Given the description of an element on the screen output the (x, y) to click on. 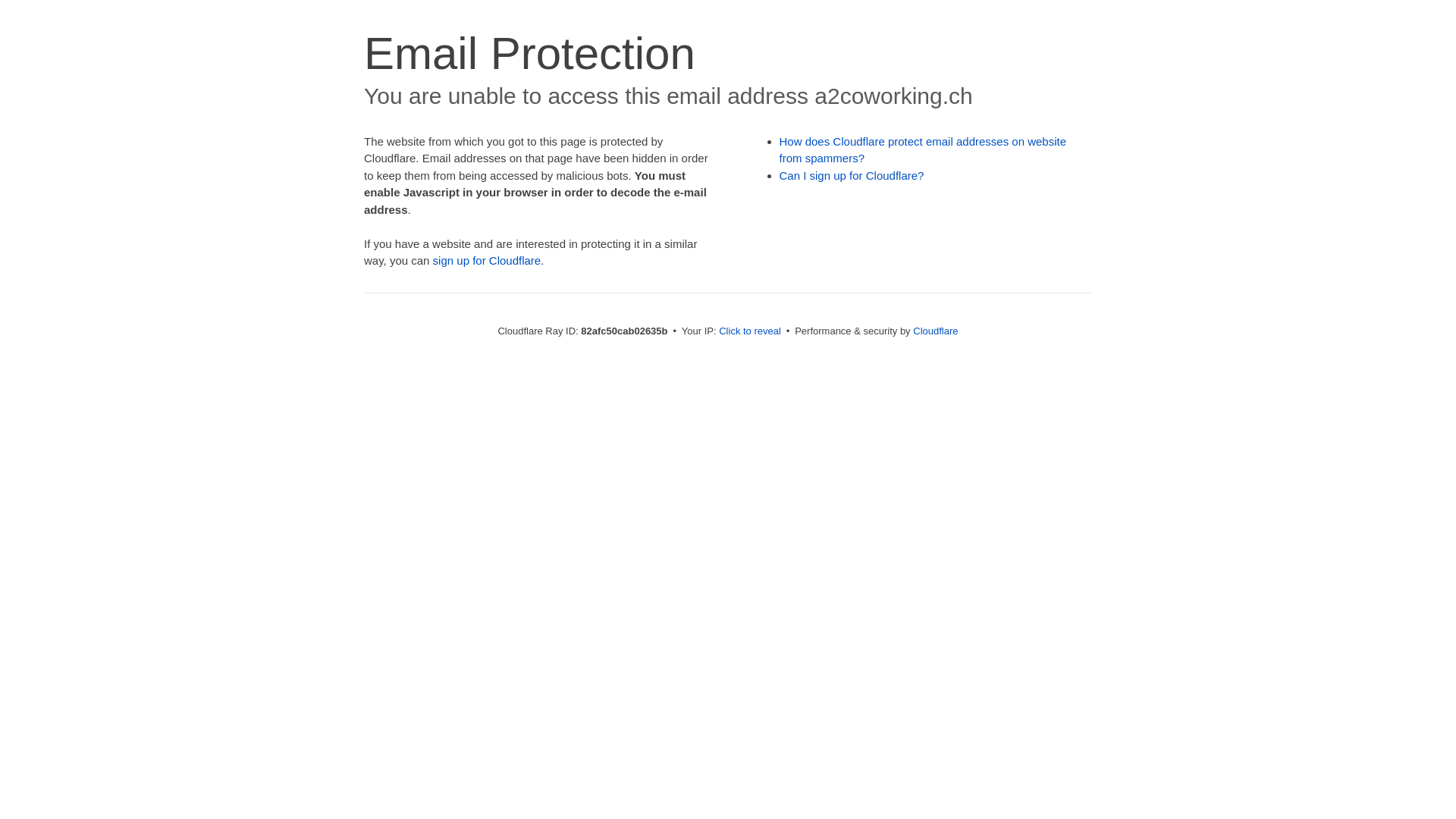
Click to reveal Element type: text (749, 330)
Cloudflare Element type: text (935, 330)
Can I sign up for Cloudflare? Element type: text (851, 175)
sign up for Cloudflare Element type: text (487, 260)
